Given the description of an element on the screen output the (x, y) to click on. 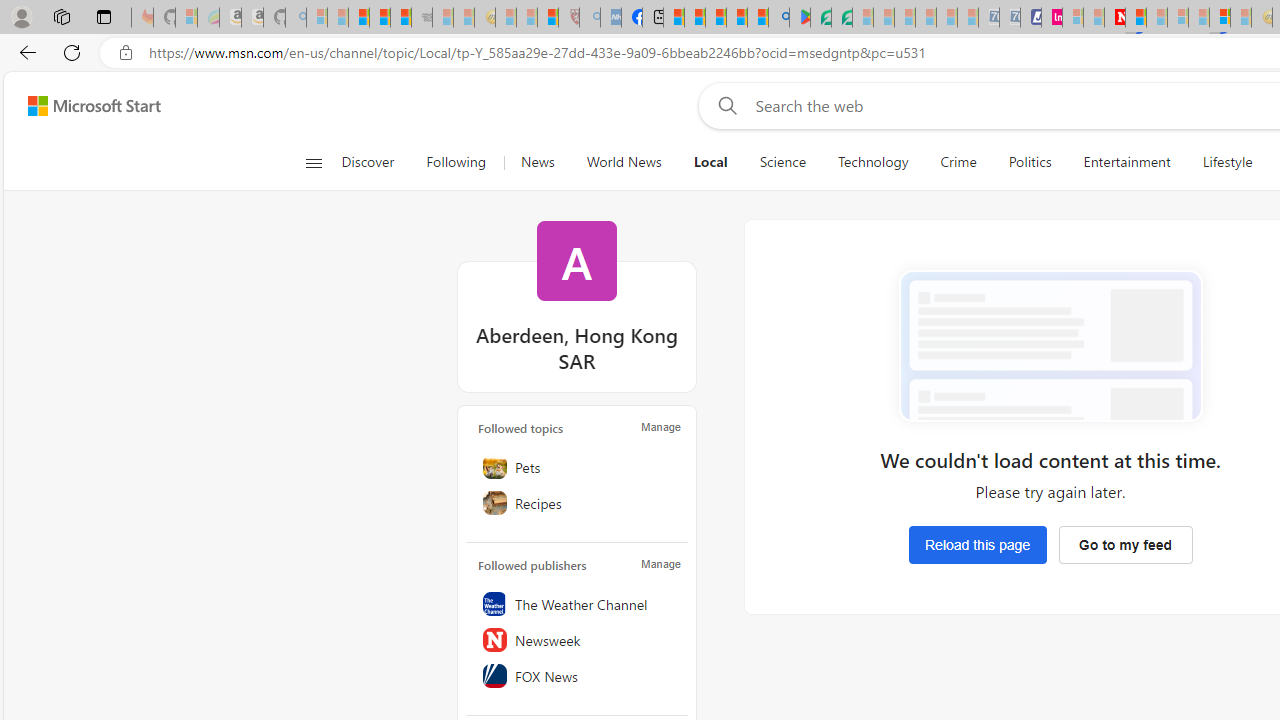
Web search (724, 105)
Microsoft account | Privacy - Sleeping (1072, 17)
Newsweek (577, 639)
MSNBC - MSN (673, 17)
Recipes - MSN - Sleeping (505, 17)
Open navigation menu (313, 162)
New Report Confirms 2023 Was Record Hot | Watch - Sleeping (400, 17)
Error (1050, 345)
Pets (577, 466)
